Given the description of an element on the screen output the (x, y) to click on. 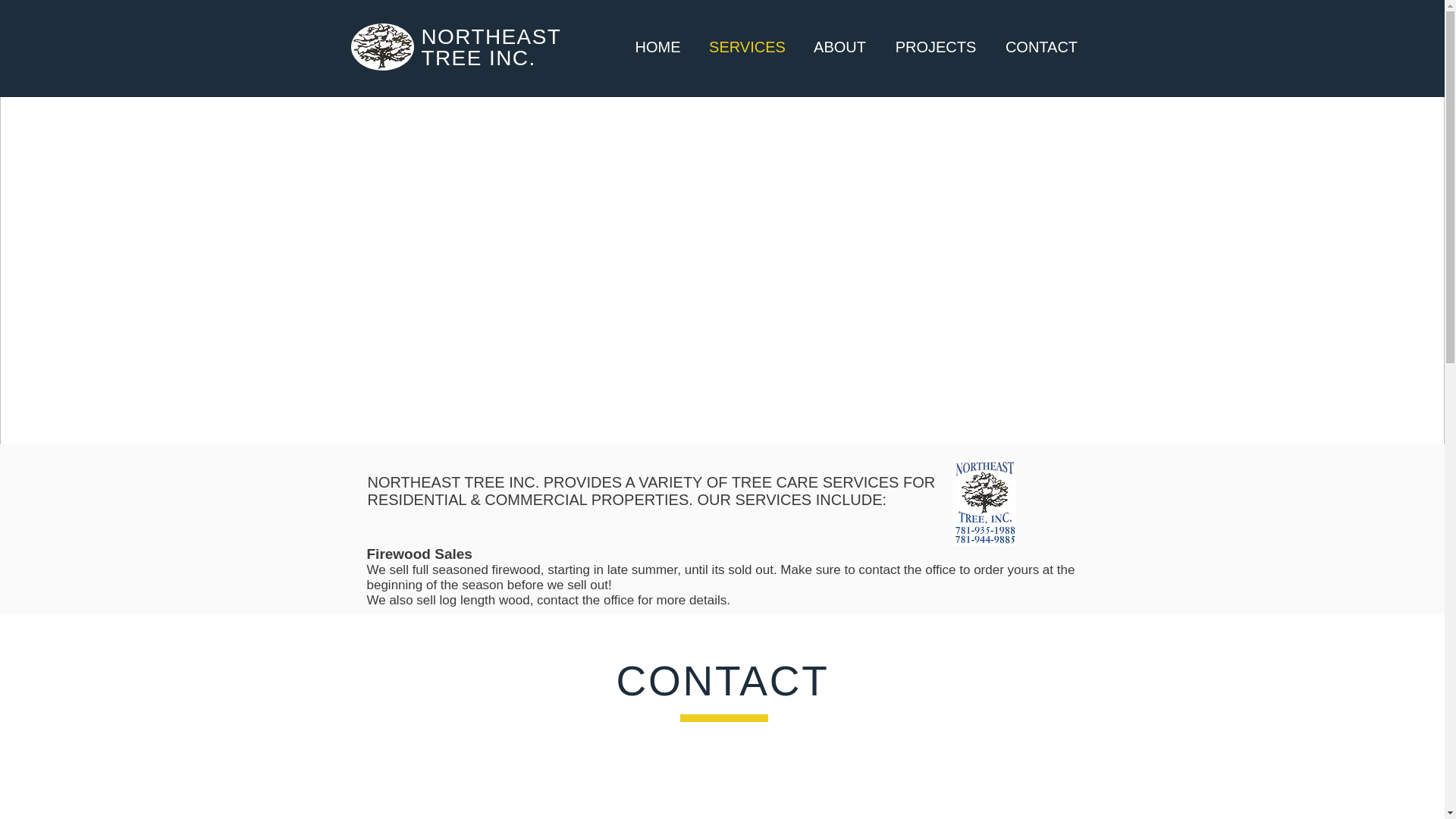
TREE INC. (478, 57)
SERVICES (747, 46)
ABOUT (839, 46)
CONTACT (1040, 46)
PROJECTS (936, 46)
HOME (657, 46)
NORTHEAST (492, 36)
